Given the description of an element on the screen output the (x, y) to click on. 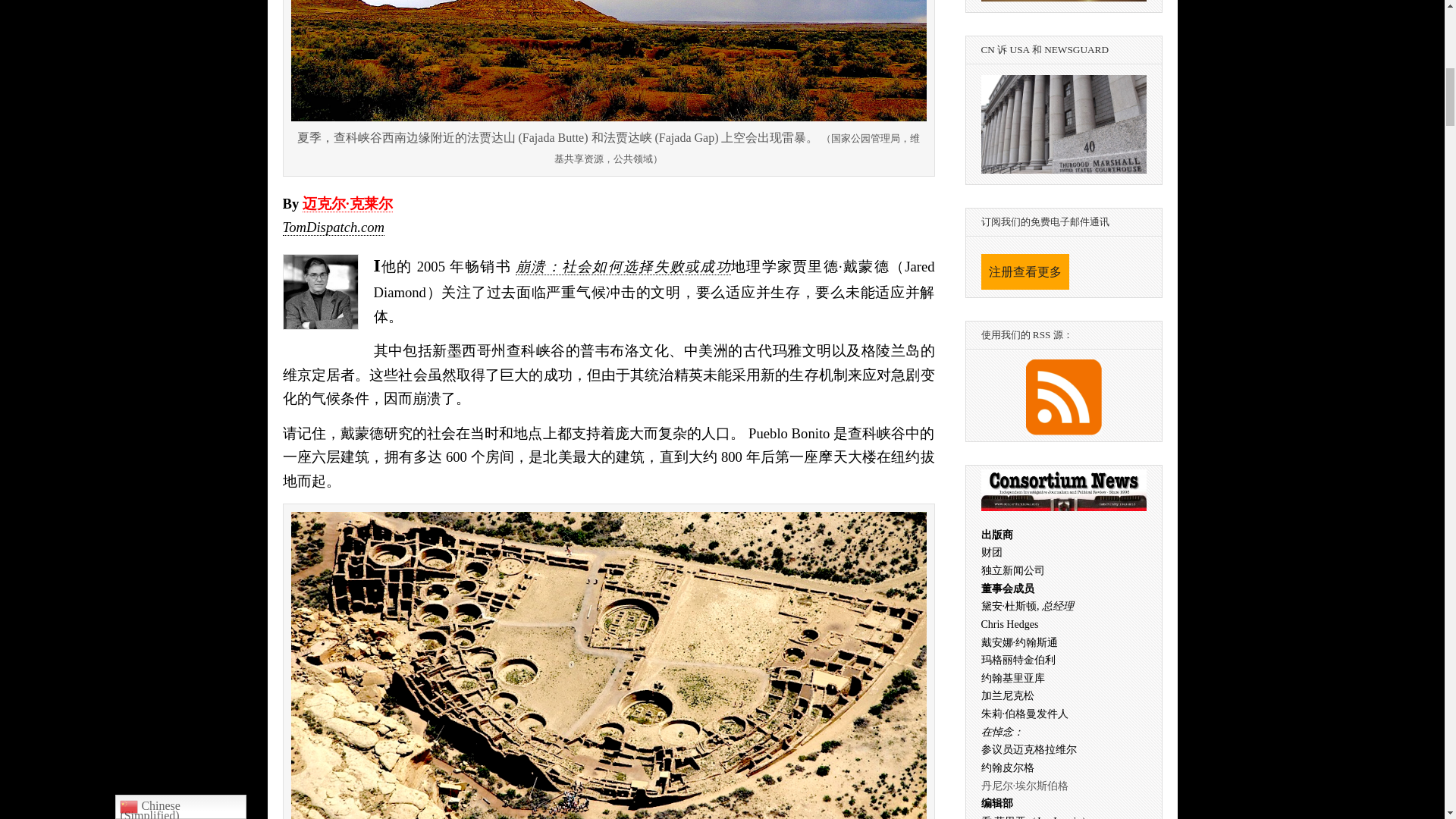
TomDispatch.com (333, 227)
